Given the description of an element on the screen output the (x, y) to click on. 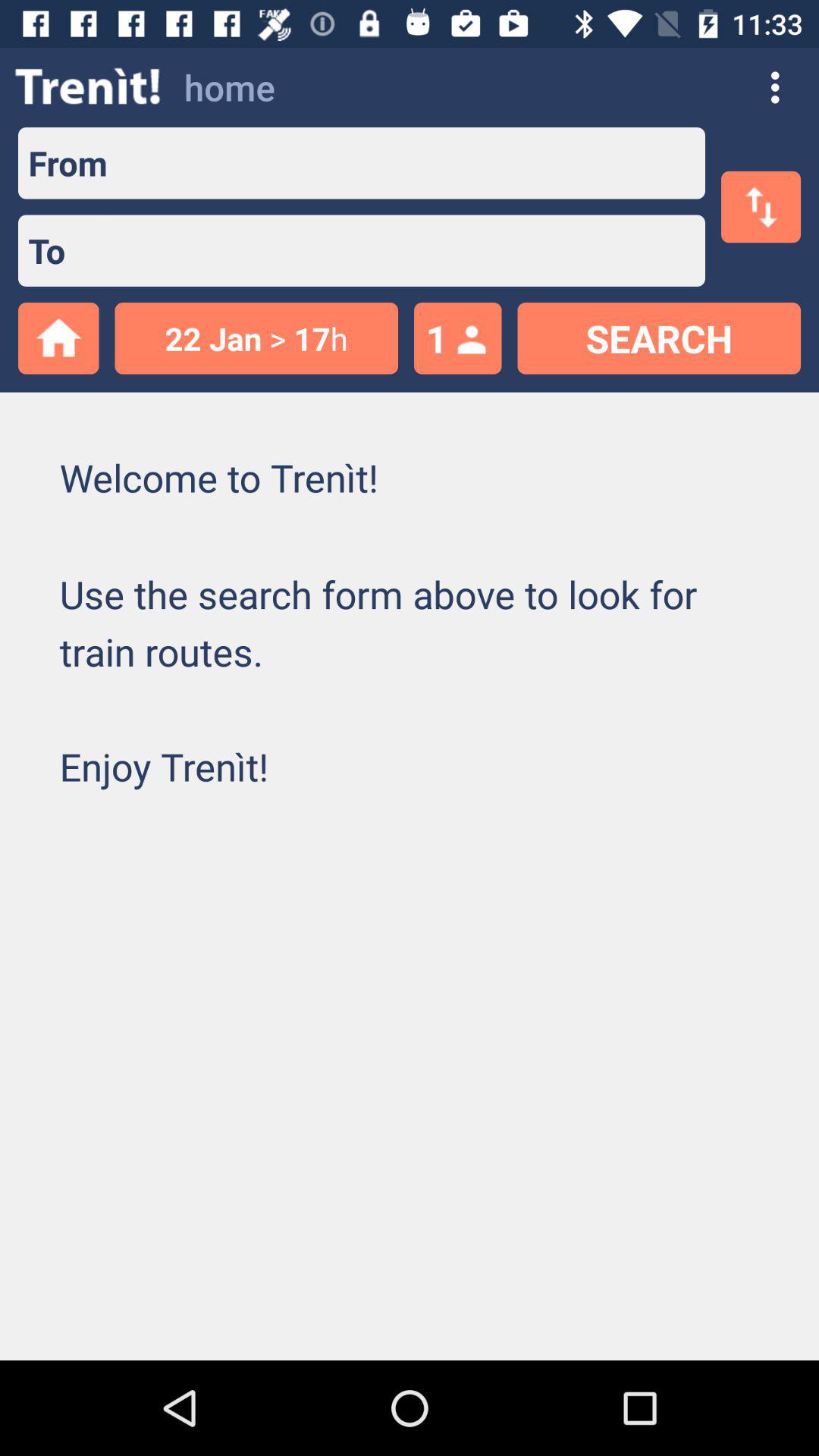
swipe to 22 jan > 17h item (256, 338)
